Given the description of an element on the screen output the (x, y) to click on. 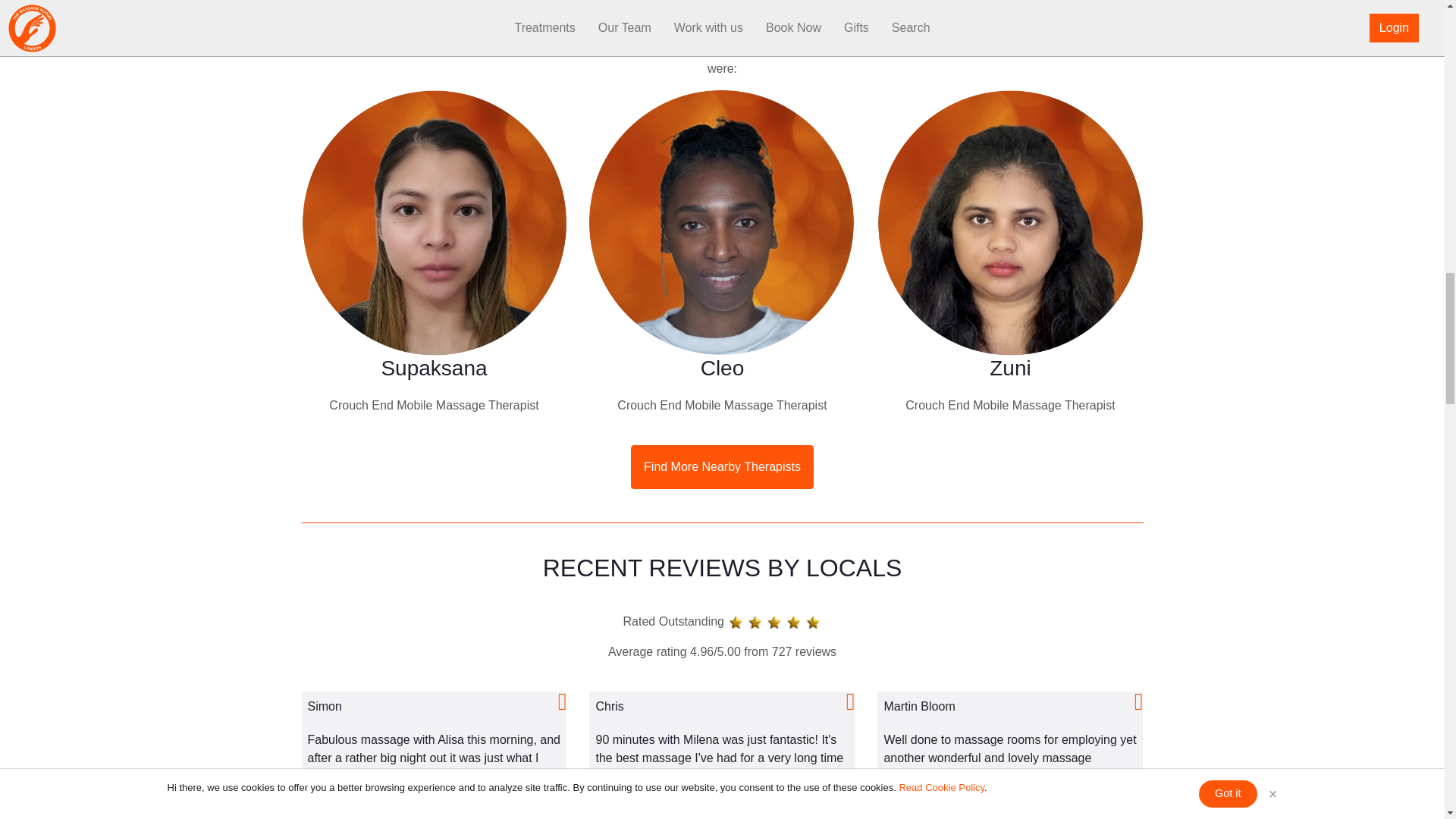
Find More Nearby Therapists (721, 466)
One of Crouch End's most popular therapists (434, 222)
A highly rated masseuse in Crouch End (721, 222)
5-star-reviews-rating (773, 621)
A Top Therapist for massages near N8 (1009, 222)
